Given the description of an element on the screen output the (x, y) to click on. 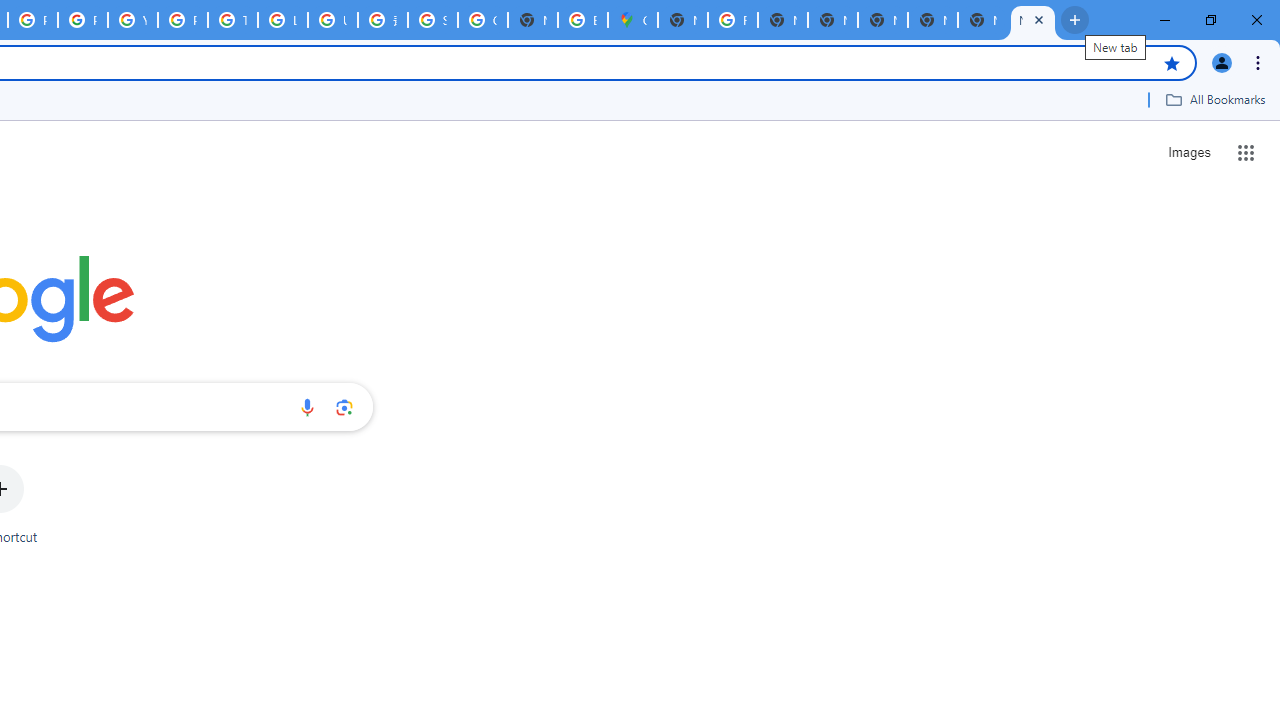
Tips & tricks for Chrome - Google Chrome Help (232, 20)
Sign in - Google Accounts (433, 20)
Explore new street-level details - Google Maps Help (582, 20)
YouTube (132, 20)
New Tab (682, 20)
